Given the description of an element on the screen output the (x, y) to click on. 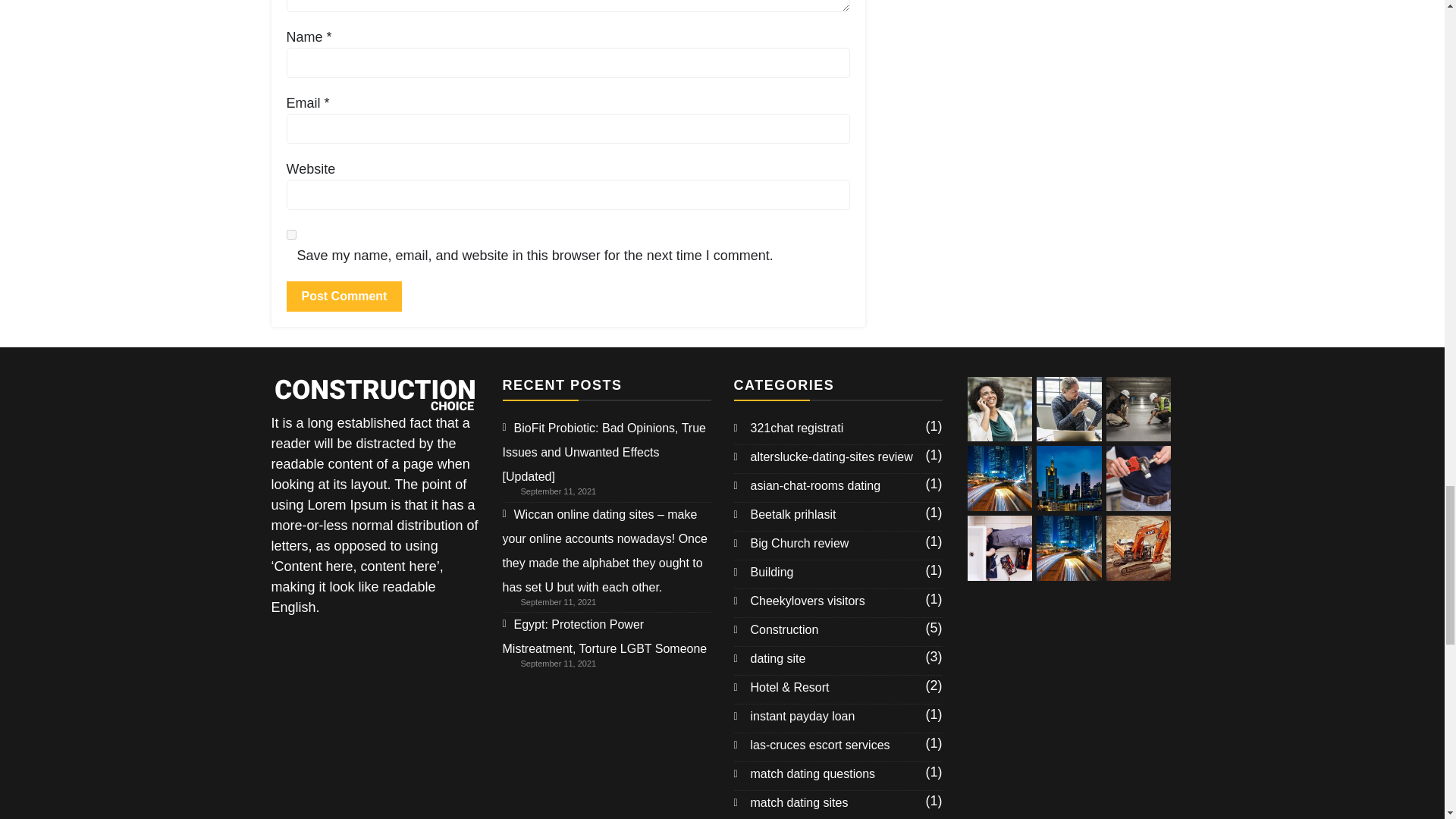
Post Comment (344, 296)
yes (291, 234)
